Given the description of an element on the screen output the (x, y) to click on. 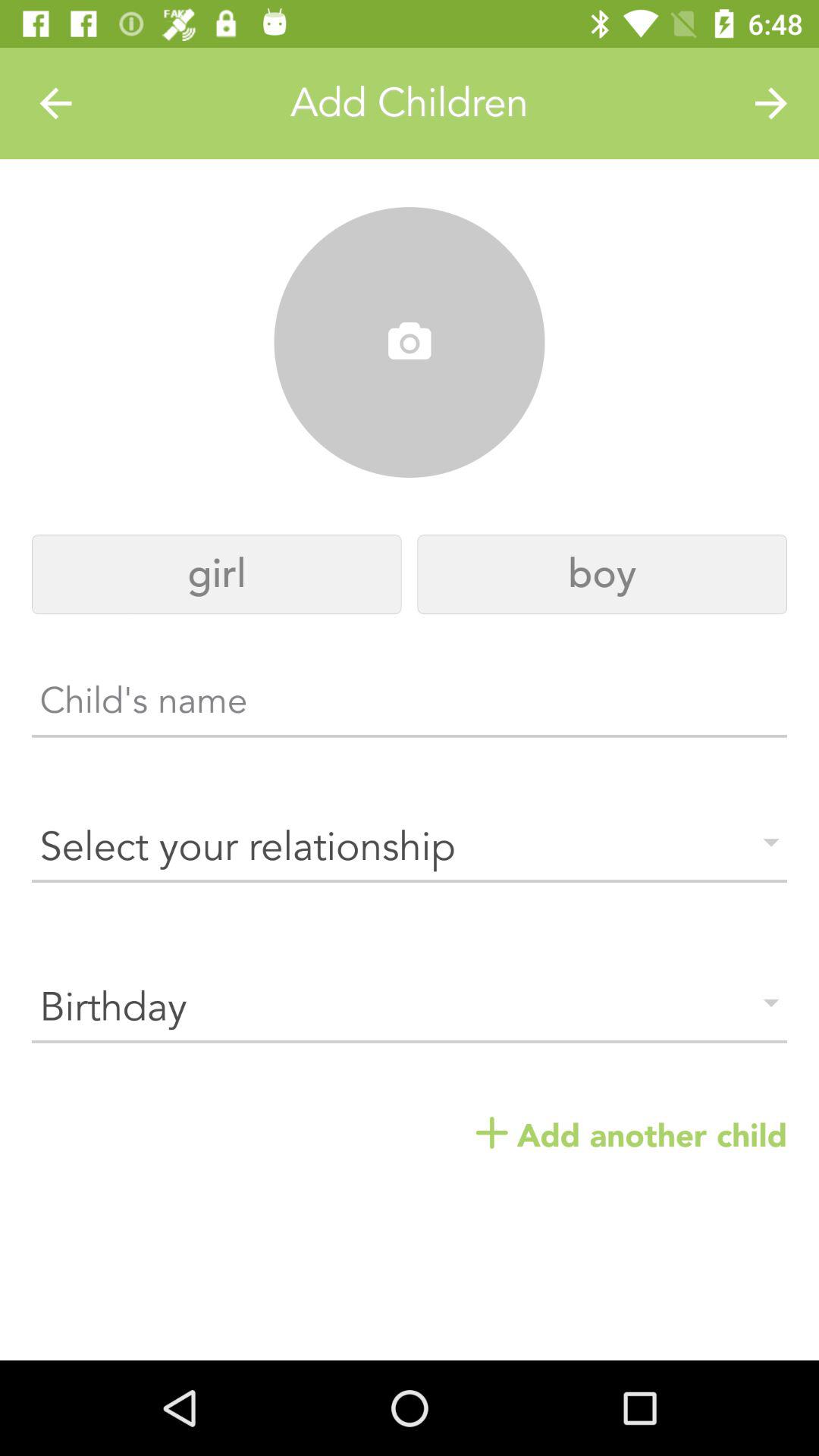
launch item next to add children icon (55, 103)
